Given the description of an element on the screen output the (x, y) to click on. 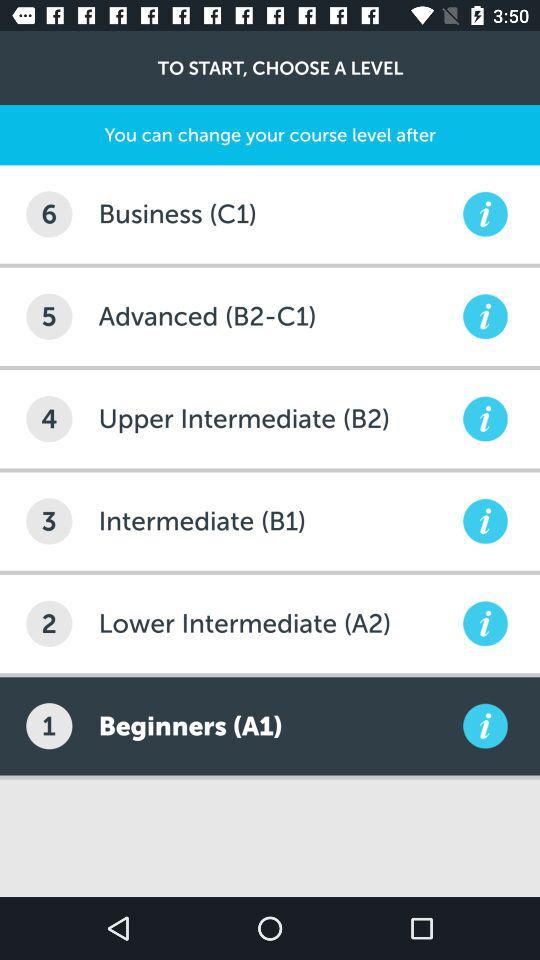
flip to upper intermediate (b2) (277, 418)
